Given the description of an element on the screen output the (x, y) to click on. 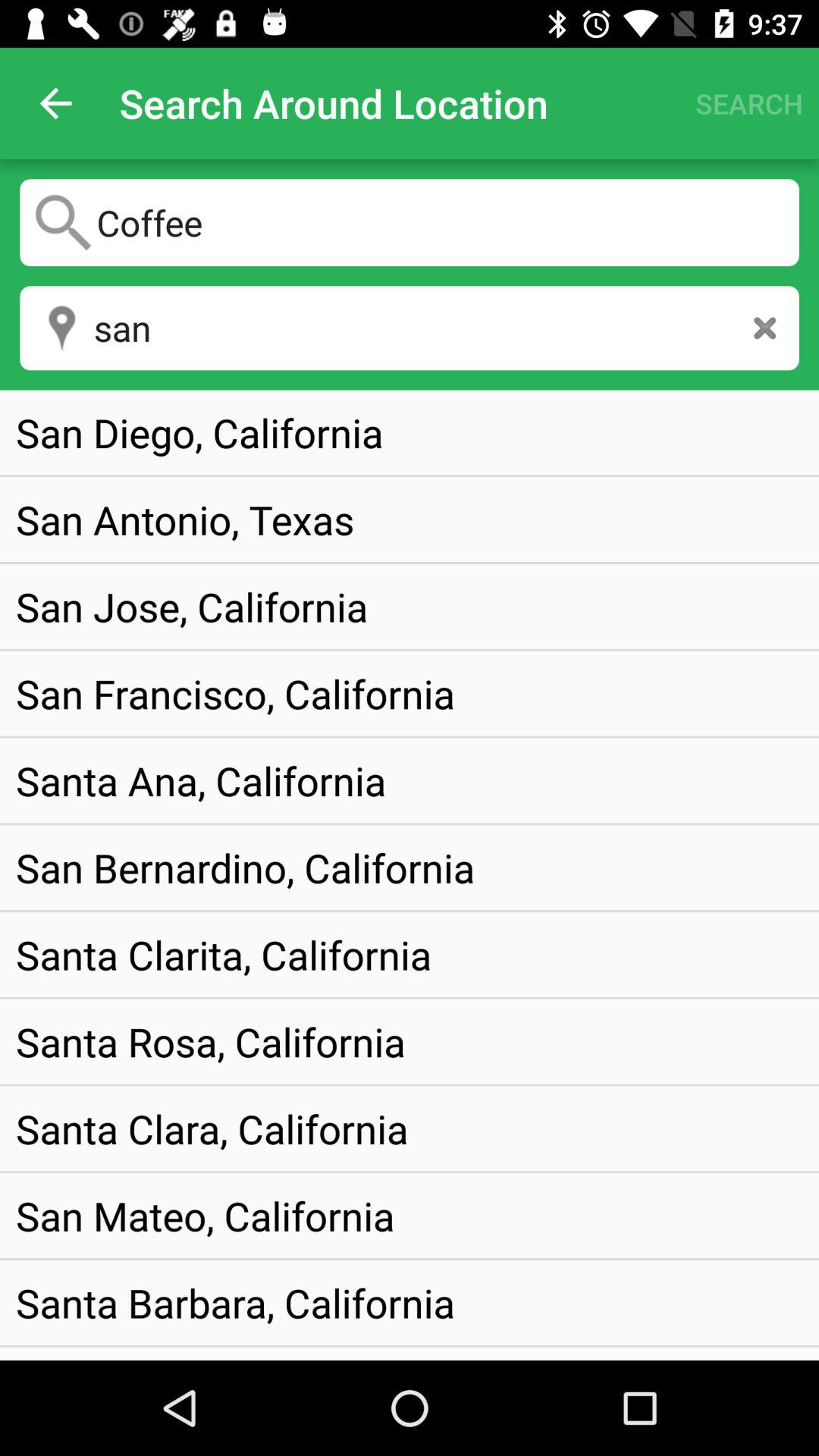
tap the icon next to search around location (55, 103)
